Given the description of an element on the screen output the (x, y) to click on. 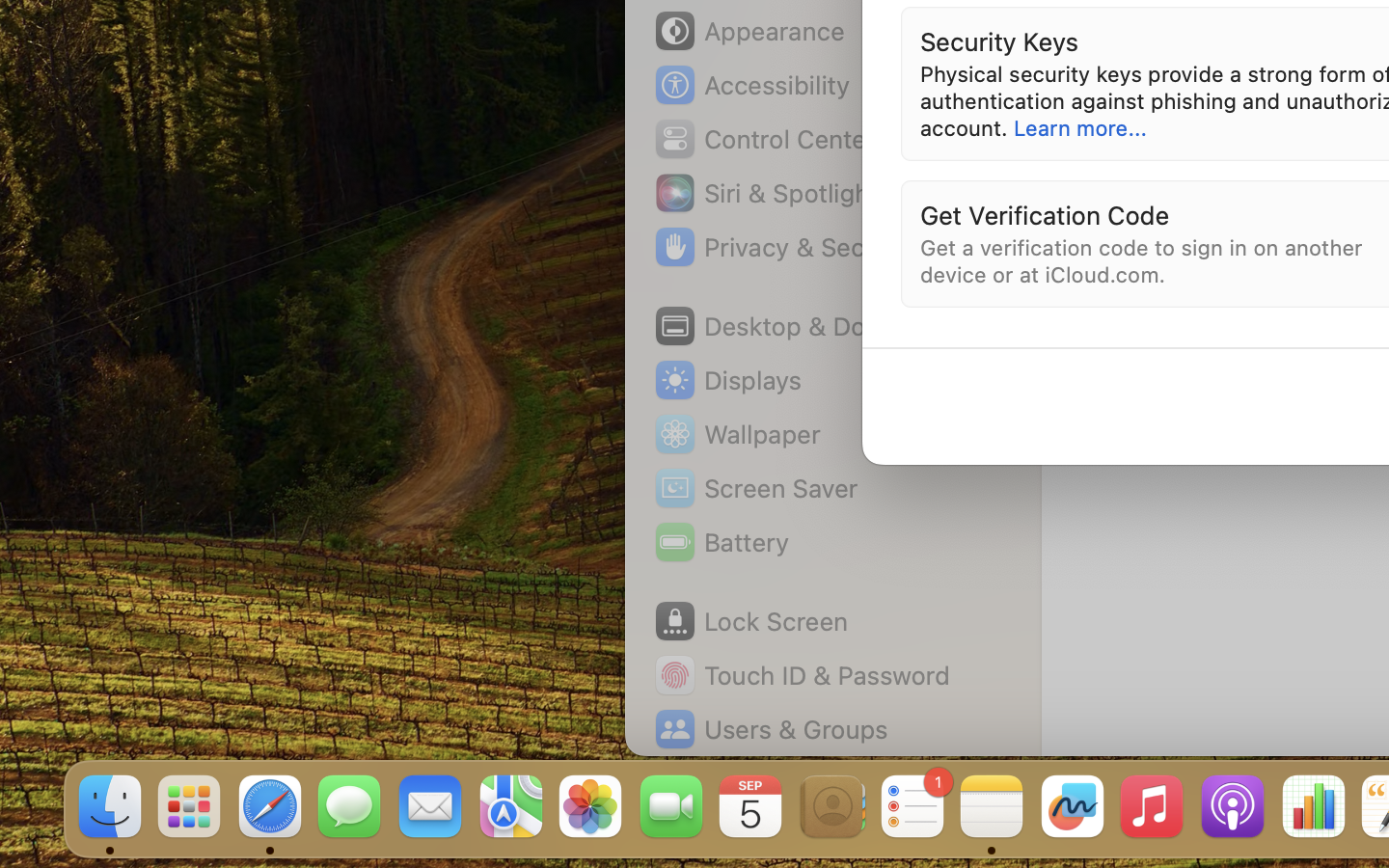
Screen Saver Element type: AXStaticText (755, 487)
Automatic Verification Element type: AXStaticText (1227, 329)
Lock Screen Element type: AXStaticText (750, 620)
Accessibility Element type: AXStaticText (751, 84)
Touch ID & Password Element type: AXStaticText (801, 674)
